Given the description of an element on the screen output the (x, y) to click on. 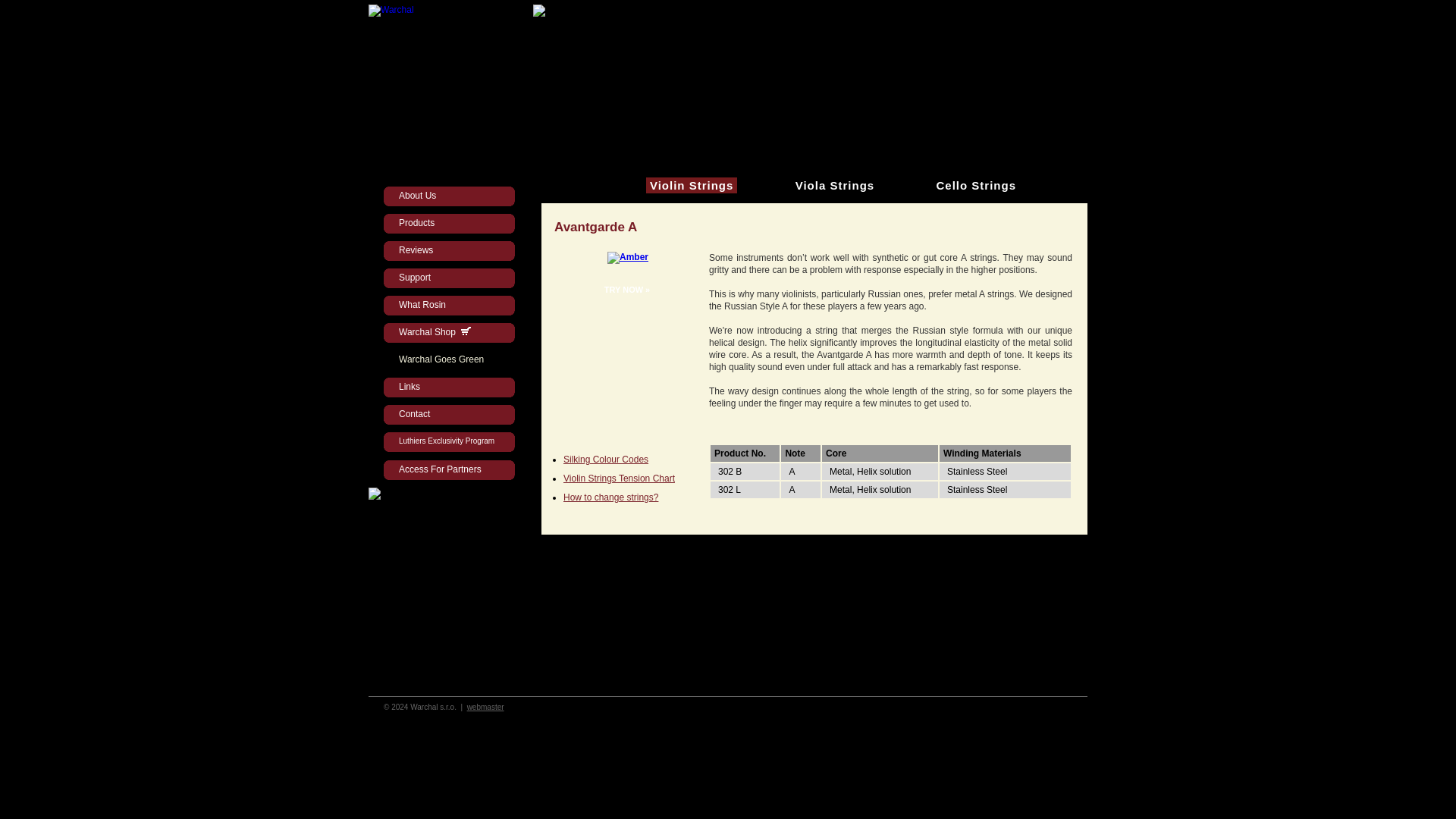
Contact (453, 418)
Reviews (453, 254)
Warchal Shop   (453, 336)
Luthiers Exclusivity Program (453, 446)
About Us (453, 199)
Violin Strings Tension Chart (619, 478)
Violin Strings (691, 185)
Warchal Goes Green (453, 363)
Viola Strings (834, 185)
Links (453, 390)
